Given the description of an element on the screen output the (x, y) to click on. 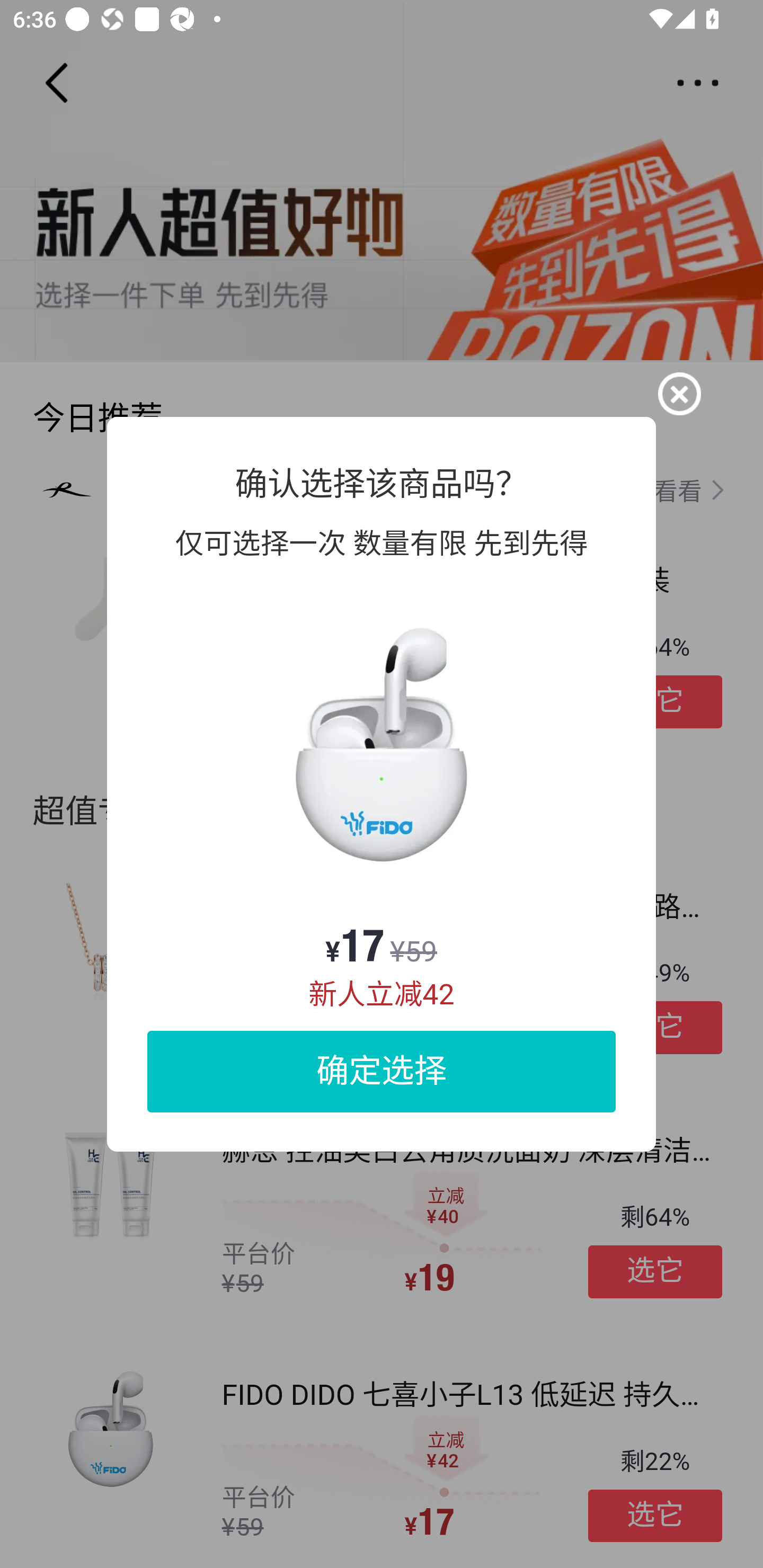
确定选择 (381, 1070)
